Given the description of an element on the screen output the (x, y) to click on. 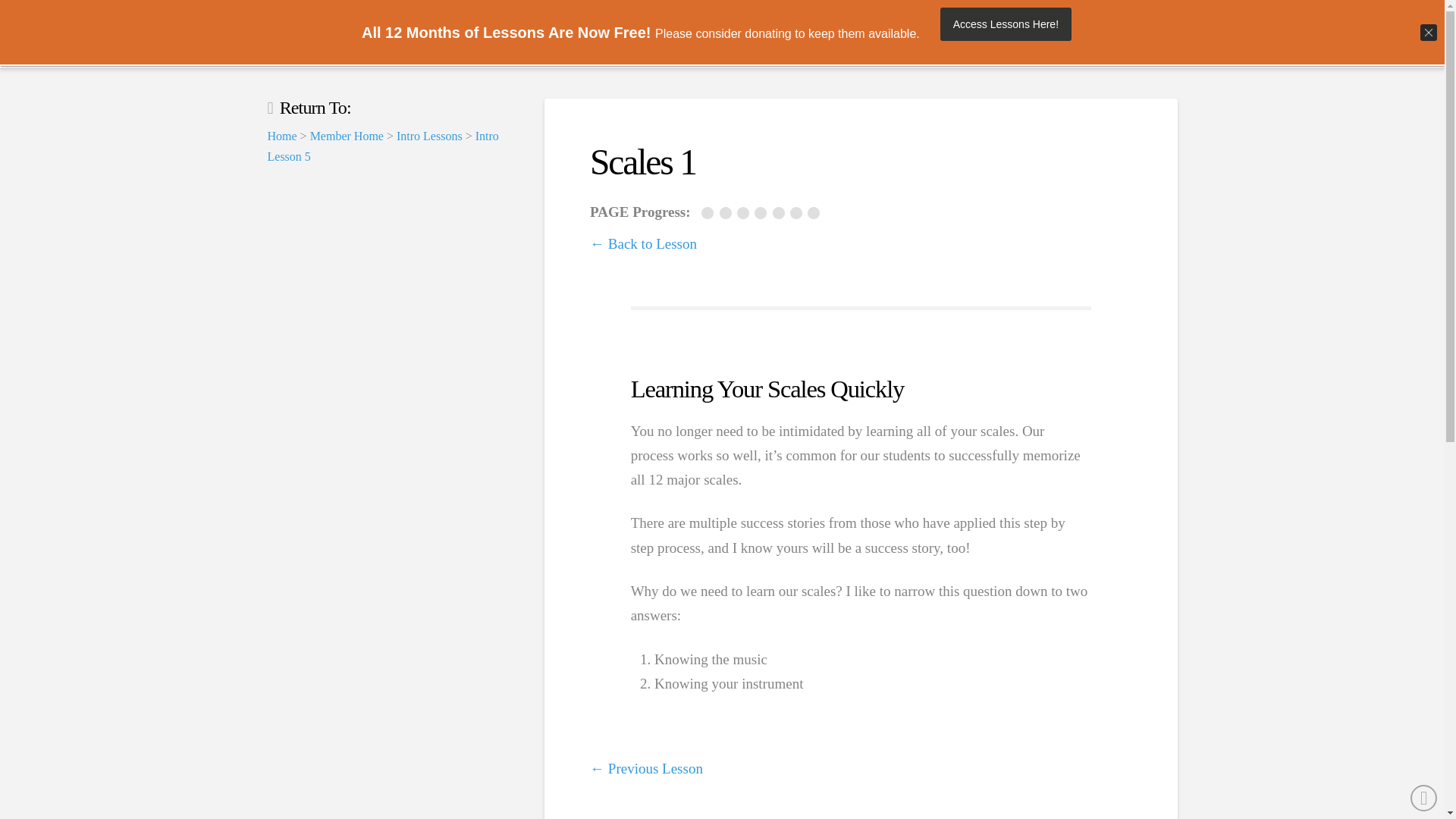
PRICING (775, 33)
Scales 1 (710, 213)
Intro Lesson 5 (381, 145)
Scales 5 (780, 213)
HOME (613, 33)
Scales 2 (727, 213)
Intro Lessons (429, 135)
Scales 1 (708, 213)
Scales 4 (762, 213)
Member Home (347, 135)
Scales 4 (762, 213)
ABOUT (941, 33)
Scales 3 (745, 213)
LOG IN (1146, 33)
Scales 6 (797, 213)
